Given the description of an element on the screen output the (x, y) to click on. 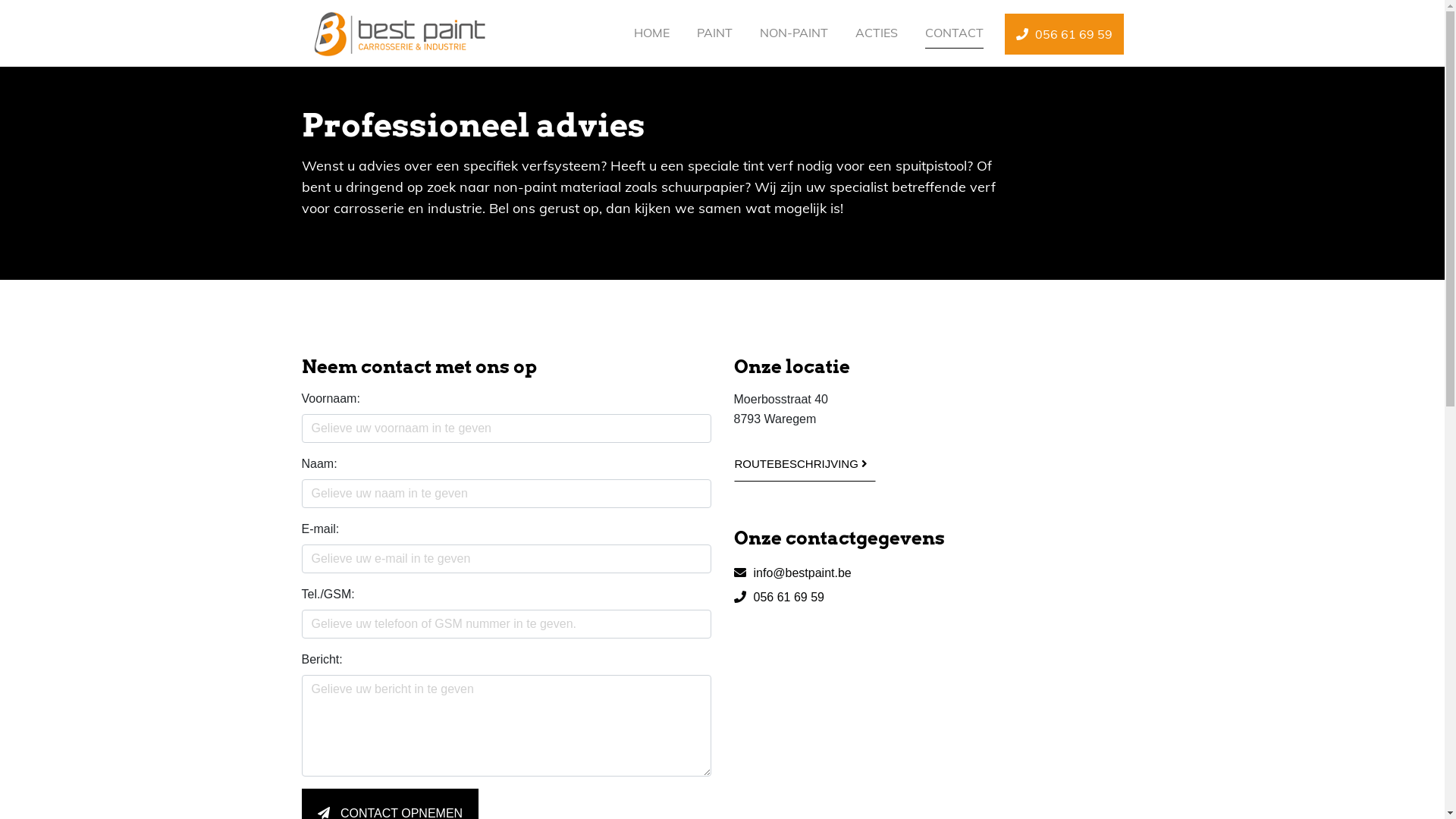
info@bestpaint.be Element type: text (866, 573)
CONTACT Element type: text (954, 32)
ACTIES Element type: text (876, 32)
ROUTEBESCHRIJVING Element type: text (805, 461)
NON-PAINT Element type: text (793, 32)
HOME Element type: text (651, 32)
PAINT Element type: text (713, 32)
056 61 69 59 Element type: text (866, 597)
056 61 69 59 Element type: text (1063, 33)
